Given the description of an element on the screen output the (x, y) to click on. 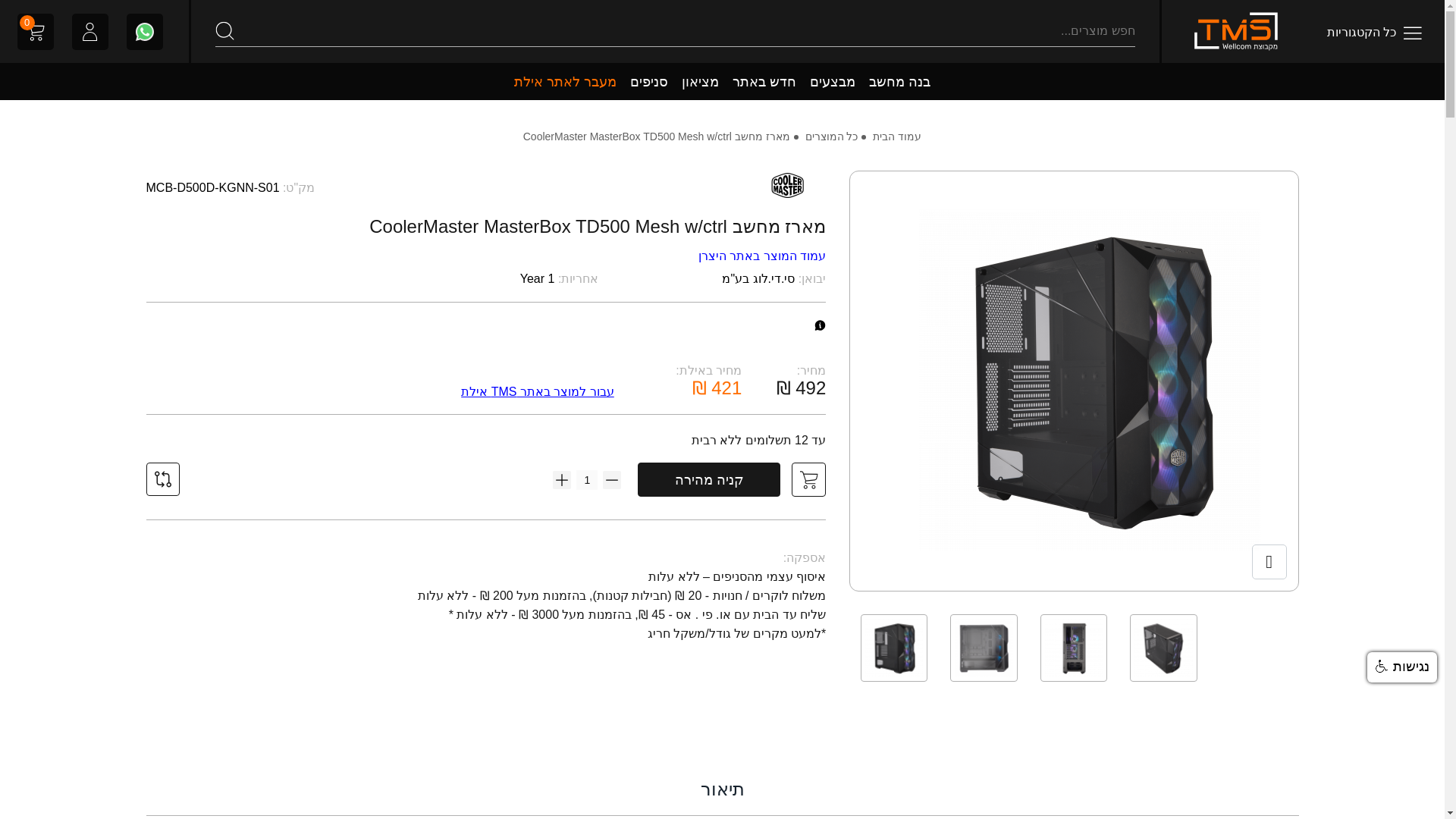
1 (586, 479)
